Given the description of an element on the screen output the (x, y) to click on. 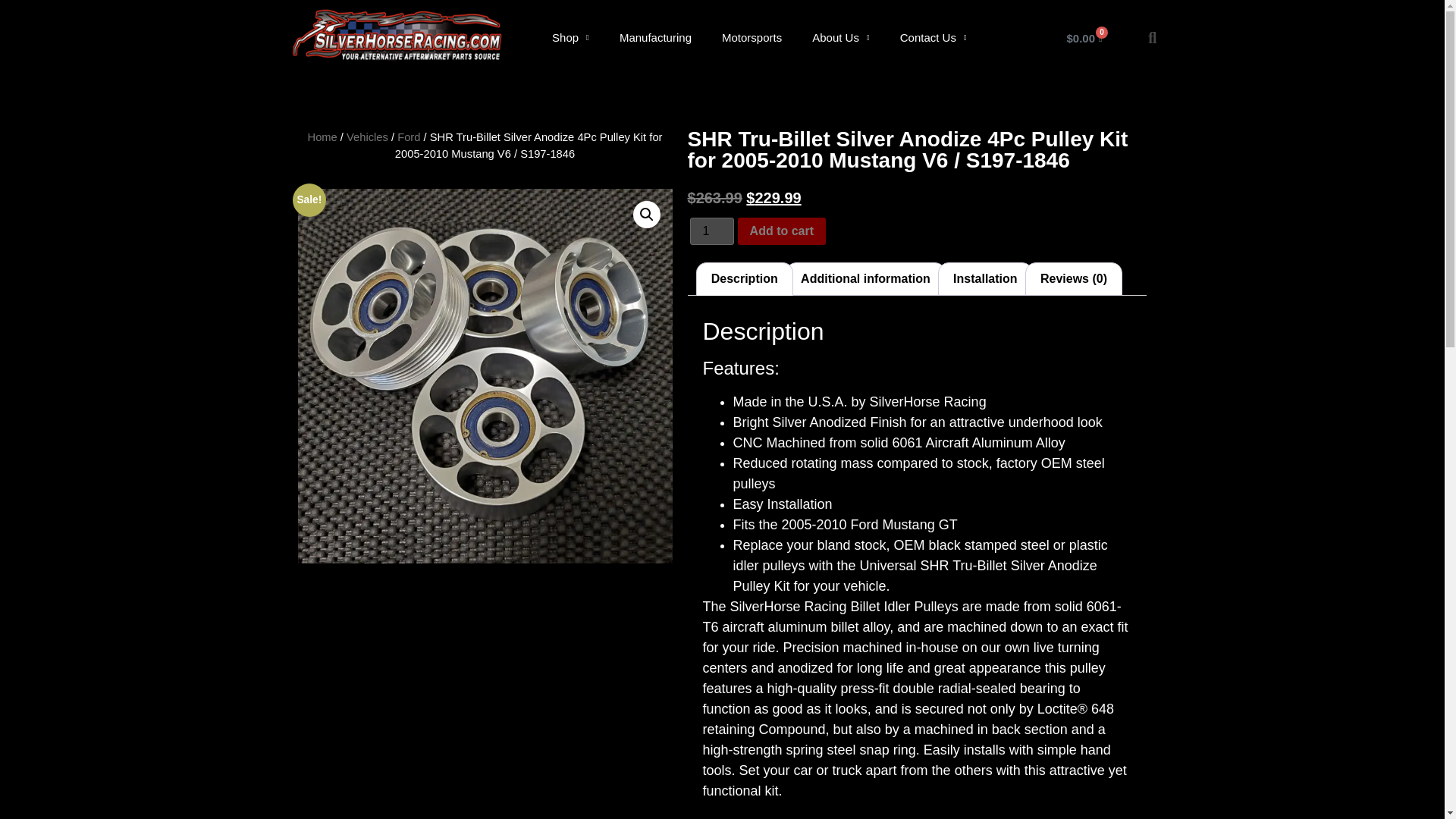
About Us (840, 38)
Shop (570, 38)
Contact Us (933, 38)
Motorsports (751, 38)
1 (711, 230)
Manufacturing (655, 38)
